Given the description of an element on the screen output the (x, y) to click on. 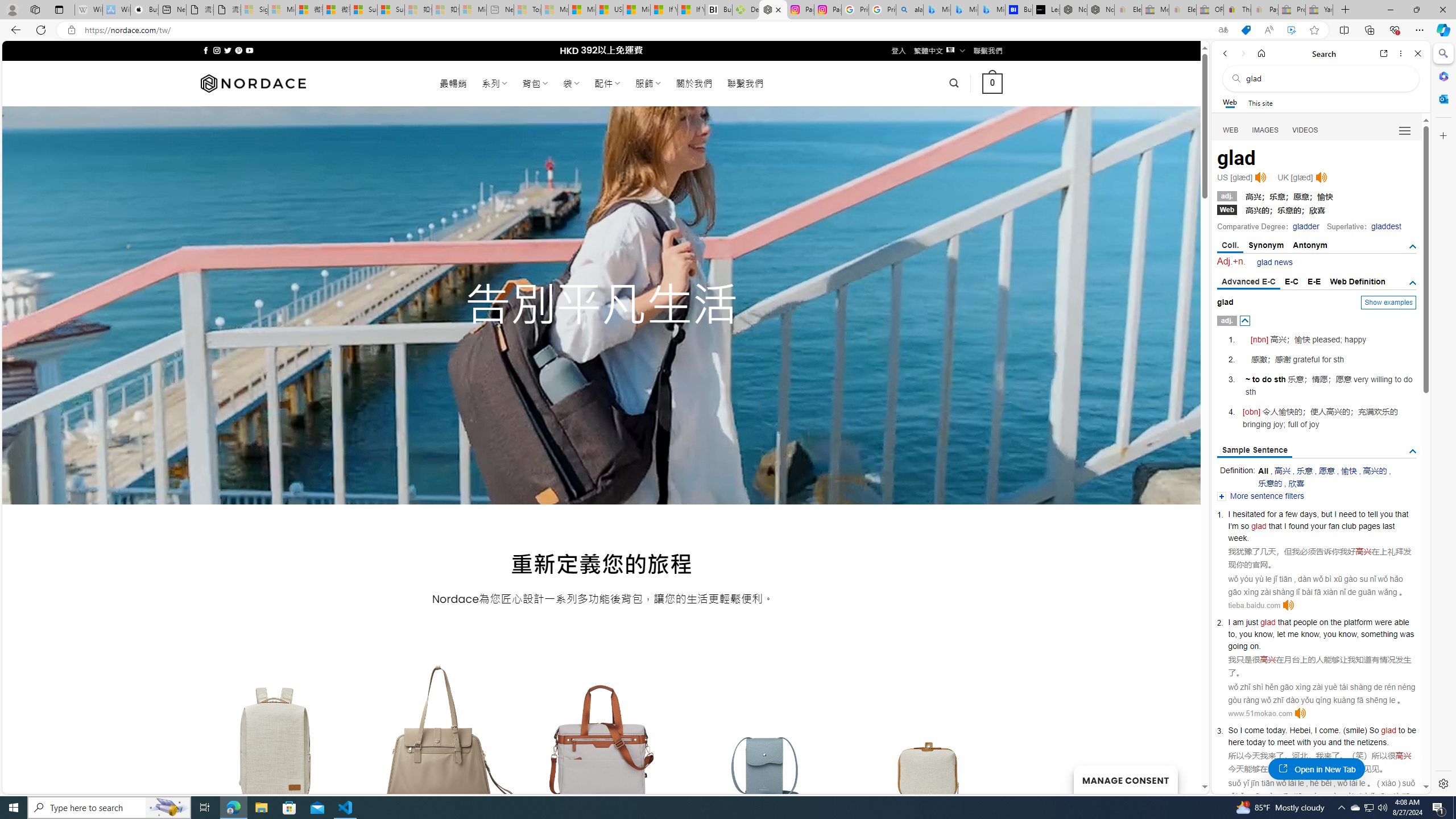
able (1401, 621)
need (1347, 513)
I (1315, 729)
